Given the description of an element on the screen output the (x, y) to click on. 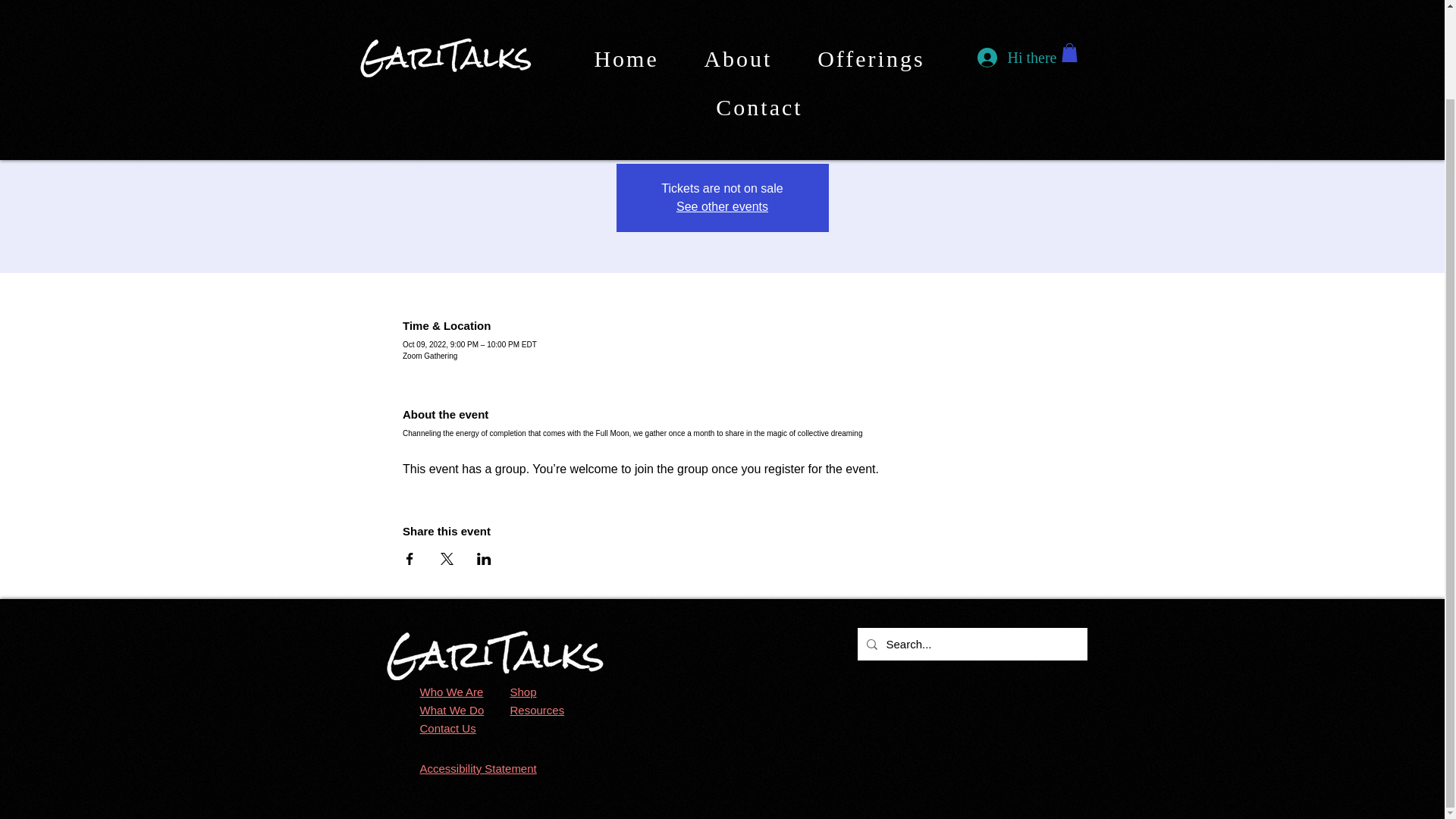
See other events (722, 205)
Who We Are (451, 691)
Contact (759, 13)
